Given the description of an element on the screen output the (x, y) to click on. 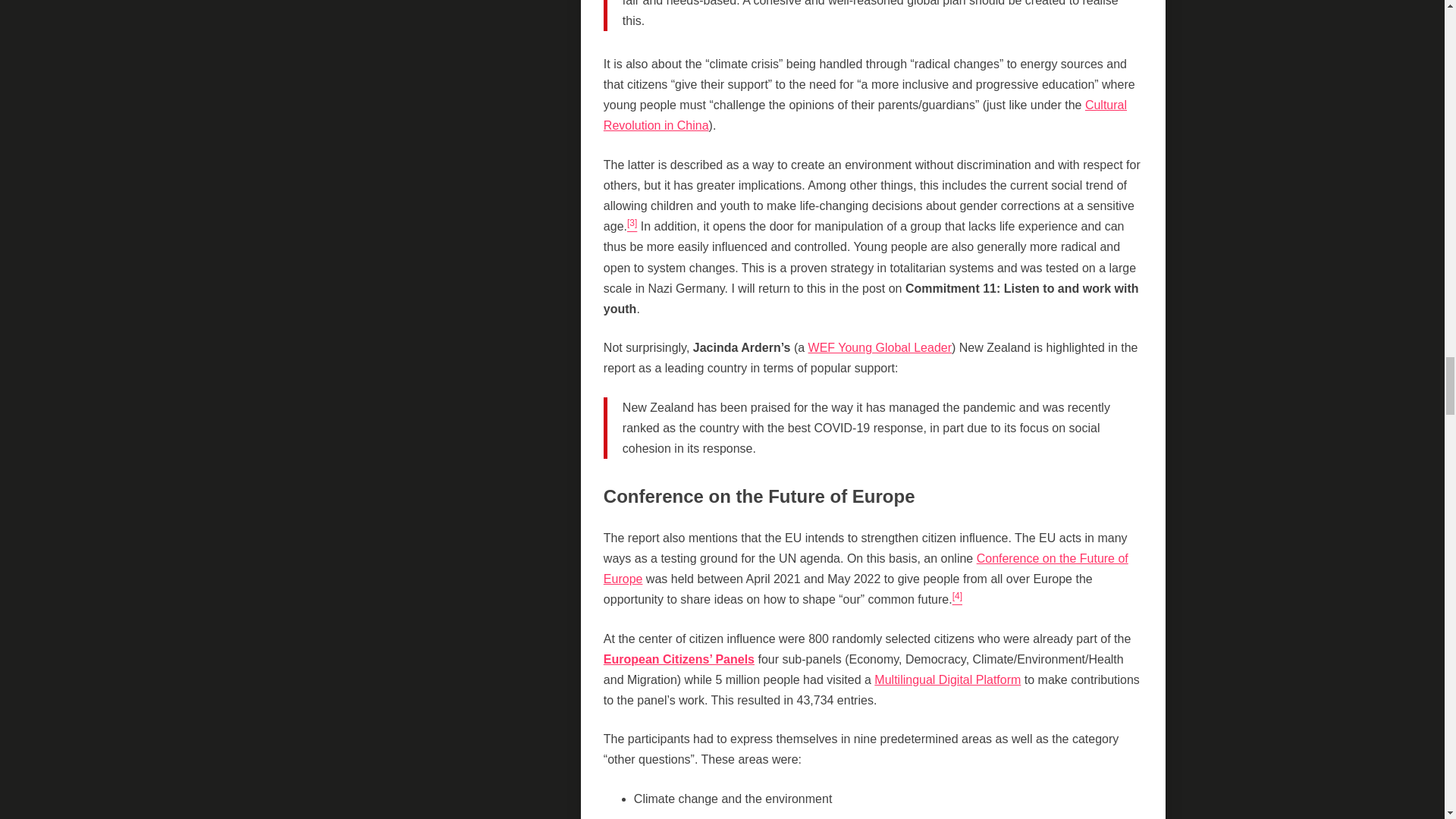
Conference on the Future of Europe (866, 568)
WEF Young Global Leader (880, 347)
Cultural Revolution in China (865, 114)
